Given the description of an element on the screen output the (x, y) to click on. 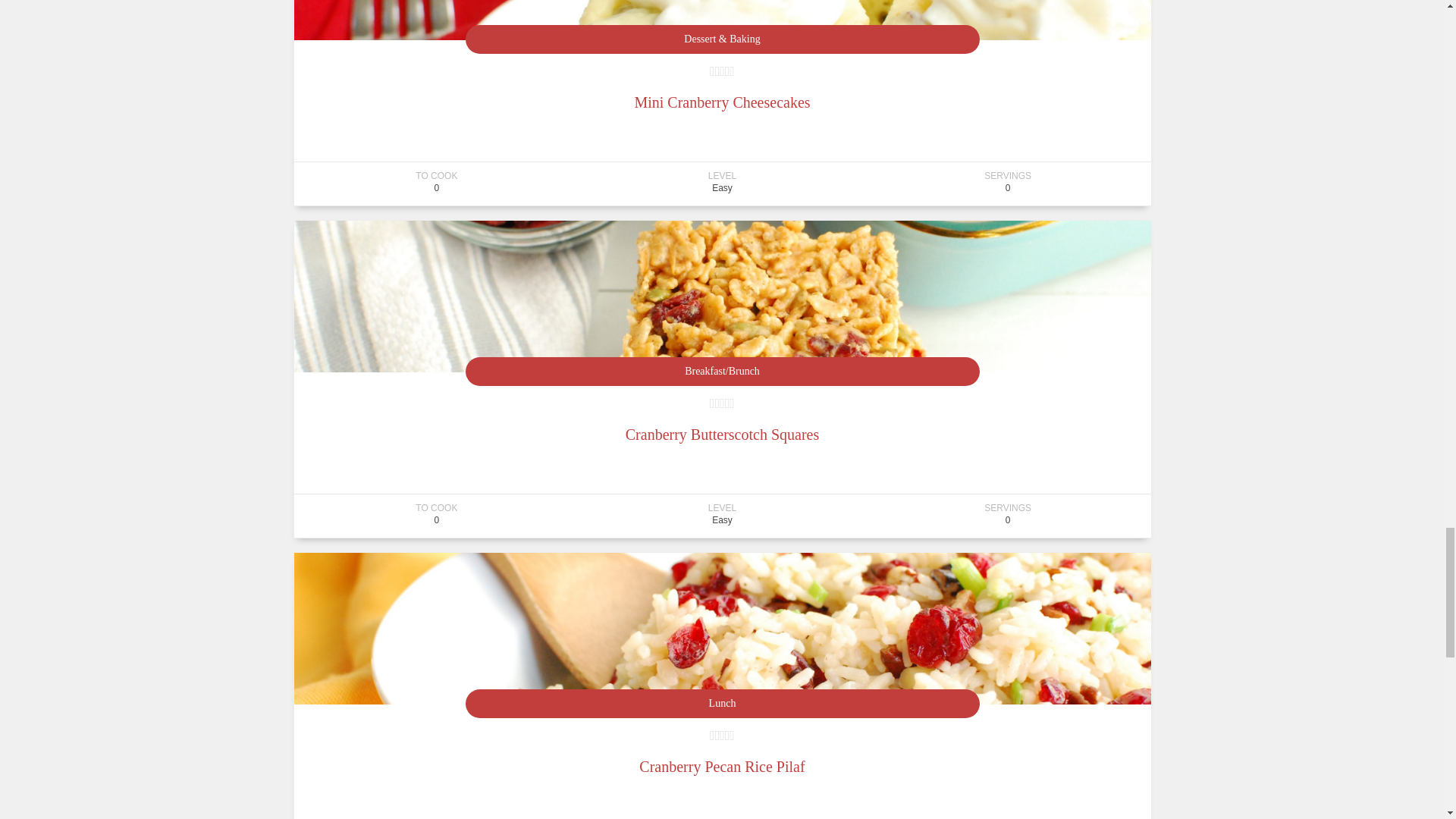
Mini Cranberry Cheesecakes (721, 102)
Cranberry Pecan Rice Pilaf (722, 766)
Cranberry Butterscotch Squares (722, 434)
